Given the description of an element on the screen output the (x, y) to click on. 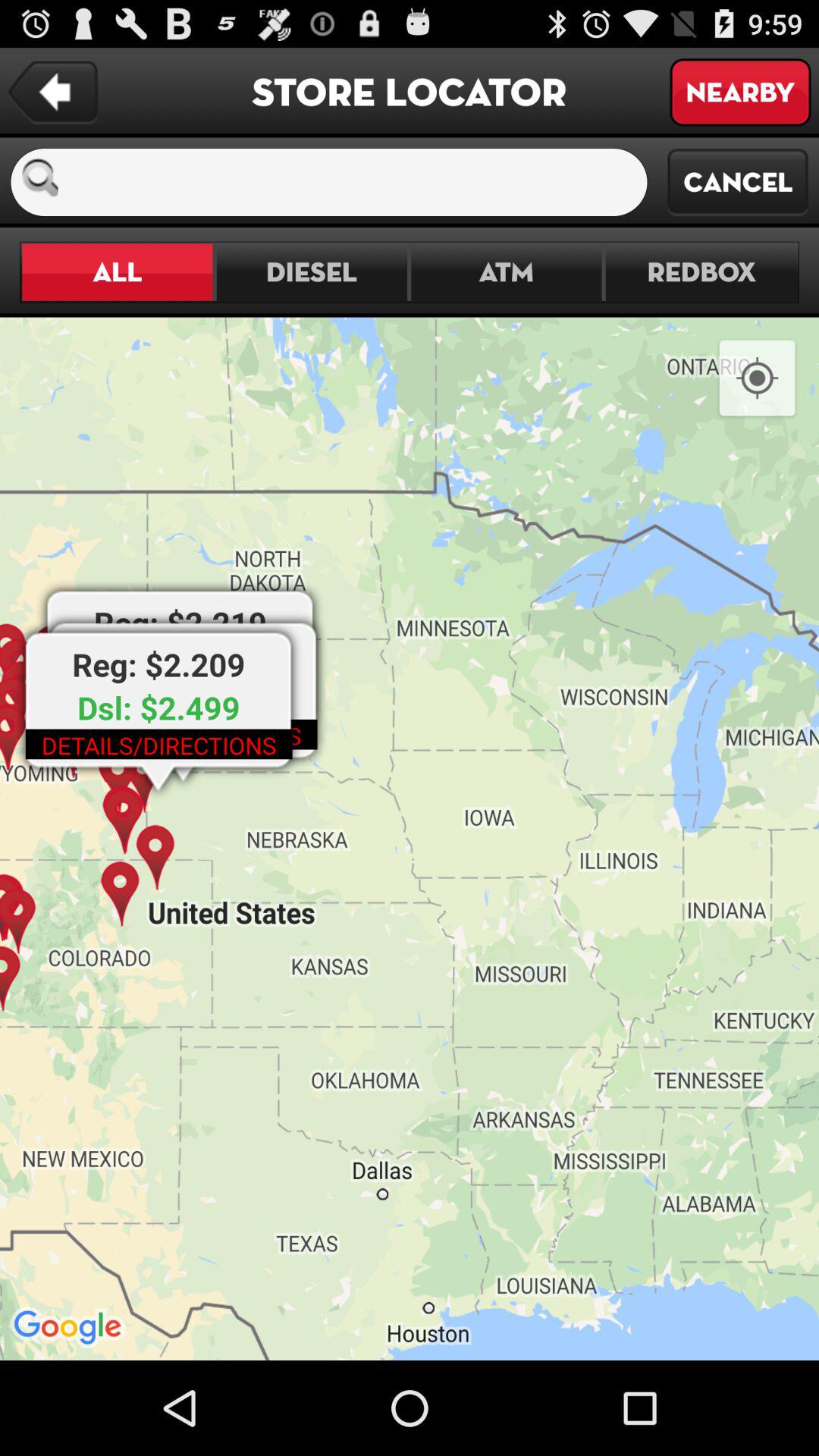
select the nearby (740, 92)
